Given the description of an element on the screen output the (x, y) to click on. 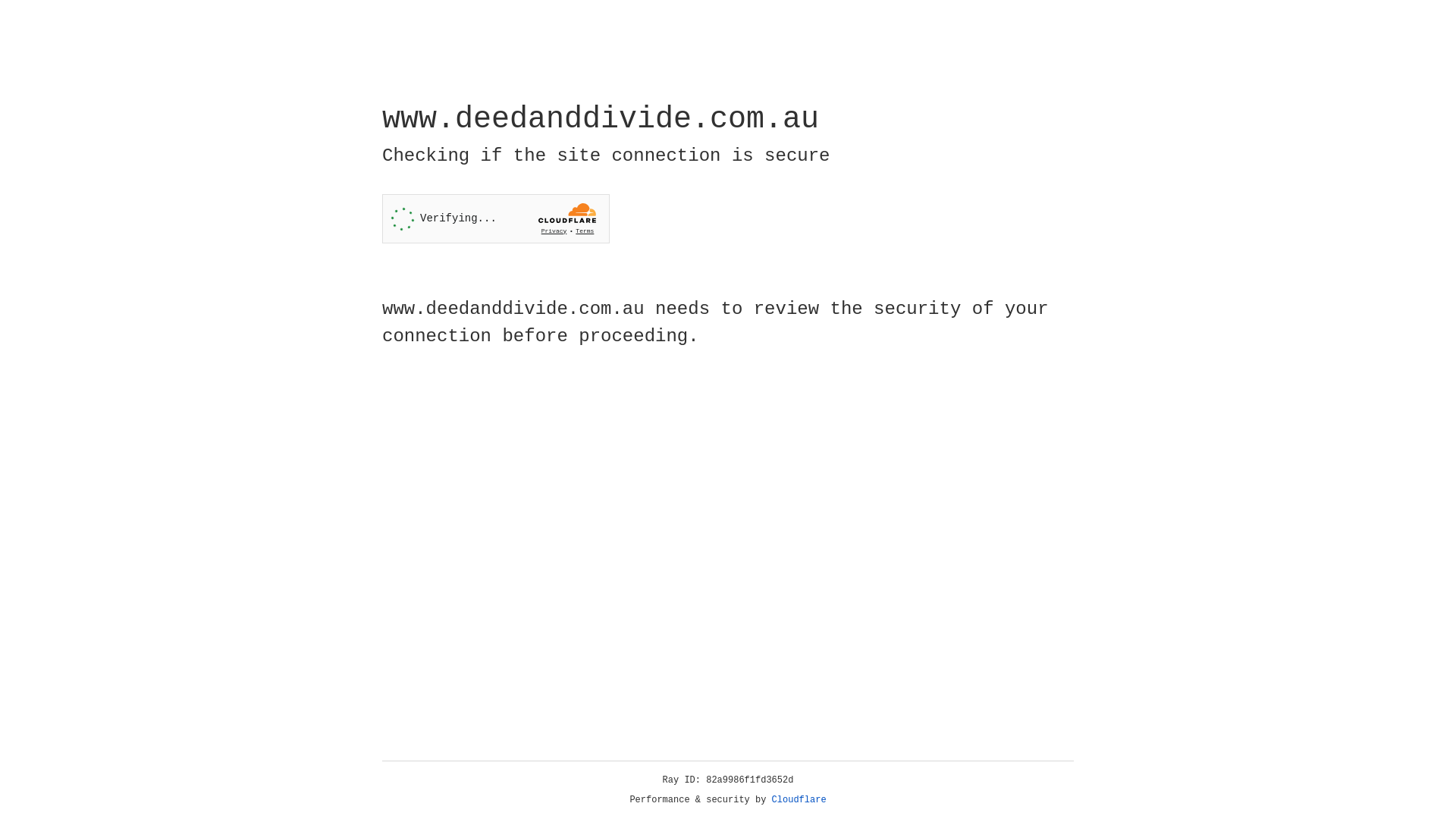
Widget containing a Cloudflare security challenge Element type: hover (495, 218)
Cloudflare Element type: text (798, 799)
